Given the description of an element on the screen output the (x, y) to click on. 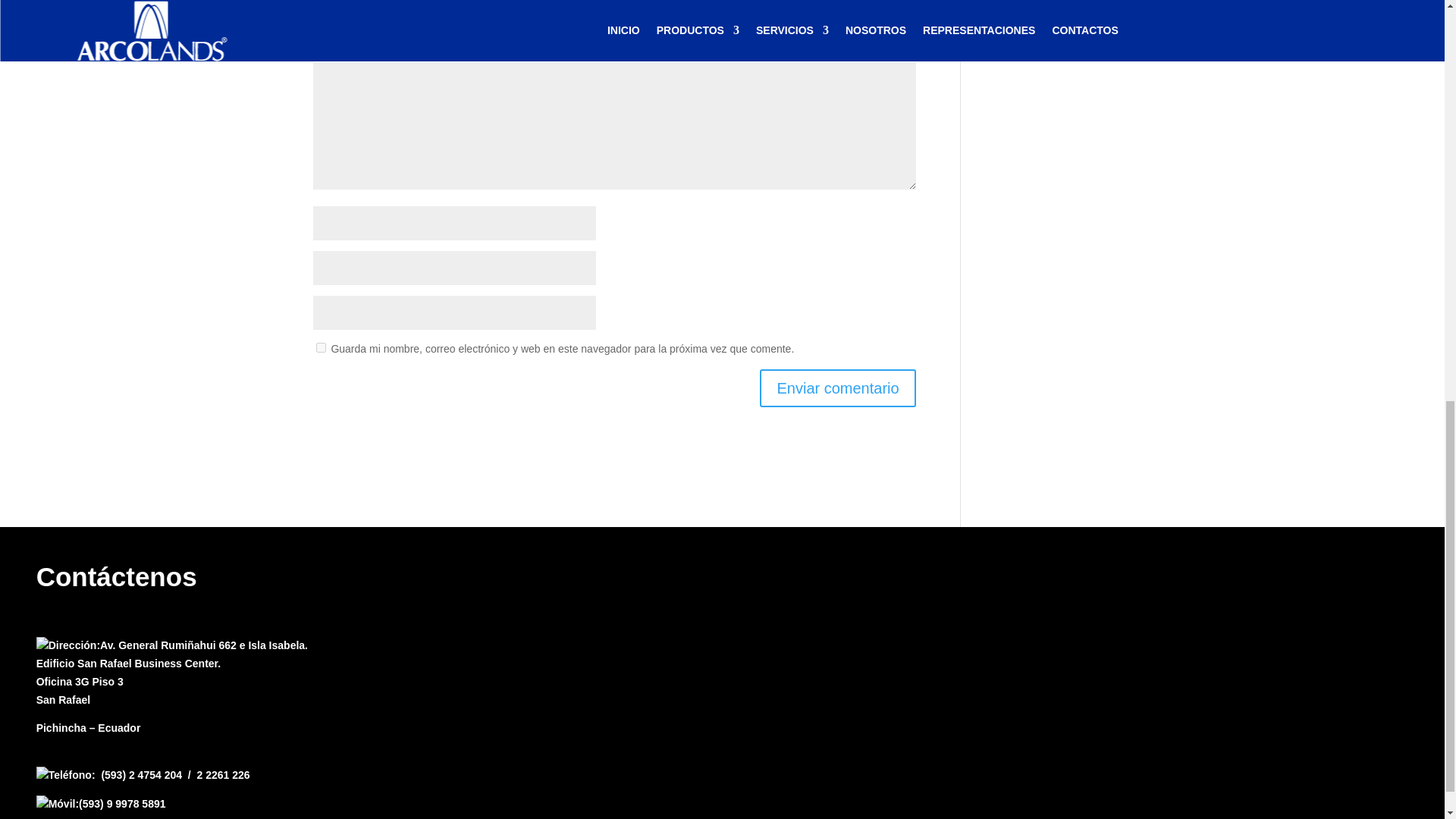
yes (319, 347)
Enviar comentario (837, 387)
Enviar comentario (837, 387)
